Given the description of an element on the screen output the (x, y) to click on. 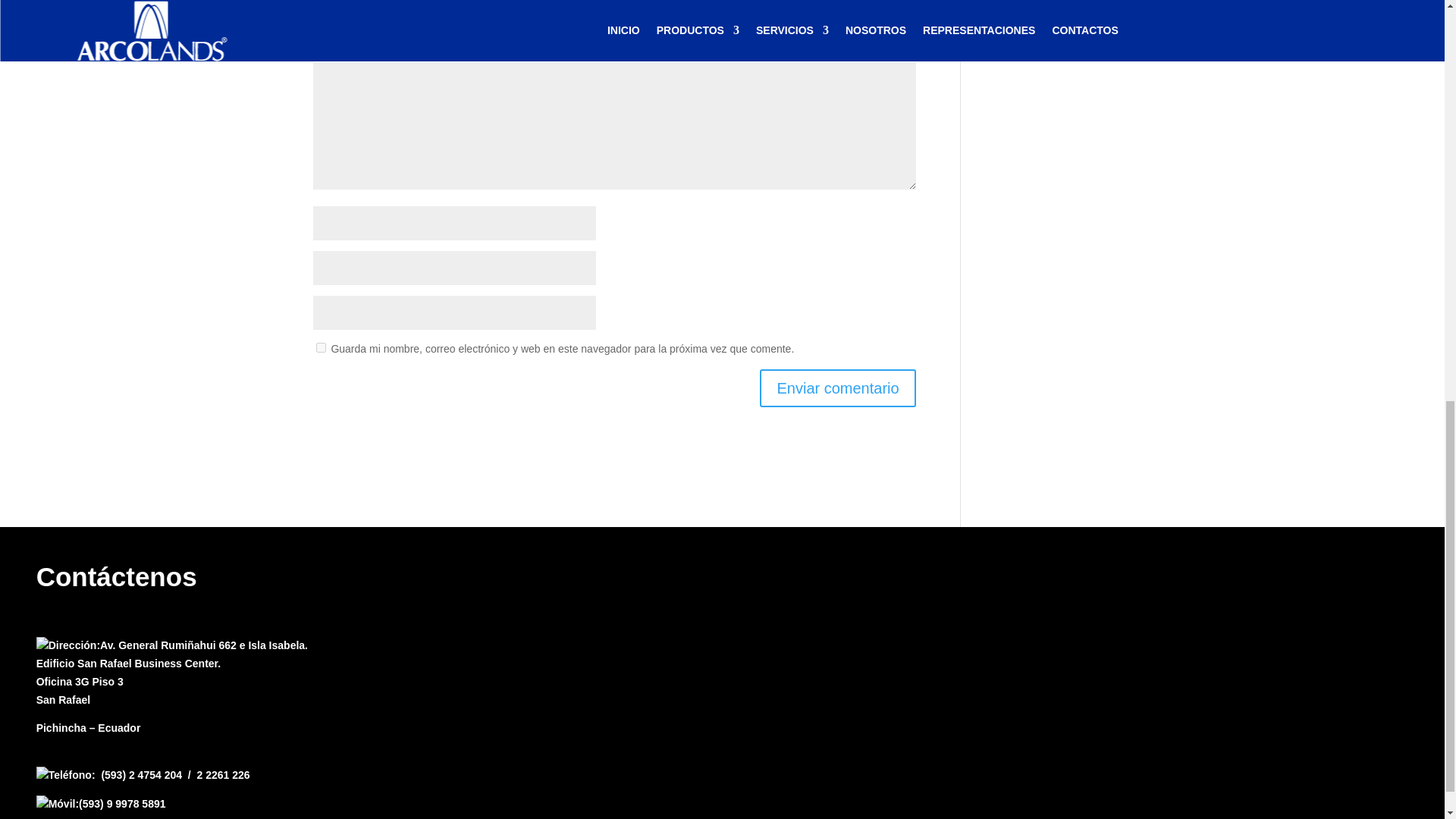
yes (319, 347)
Enviar comentario (837, 387)
Enviar comentario (837, 387)
